Given the description of an element on the screen output the (x, y) to click on. 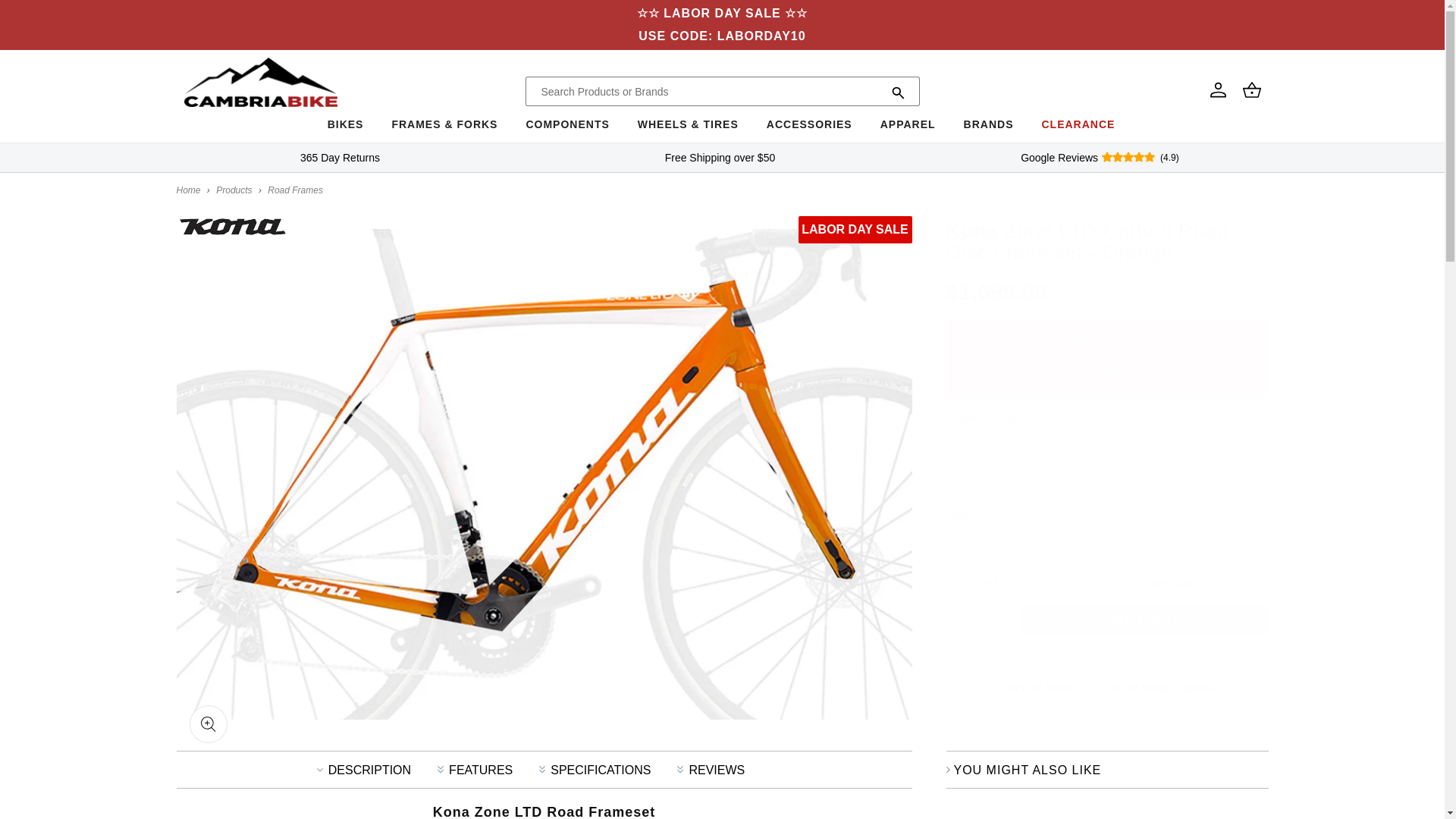
Skip to content (45, 17)
Products (233, 190)
Road Frames (295, 190)
Cambria Bike (188, 190)
